Given the description of an element on the screen output the (x, y) to click on. 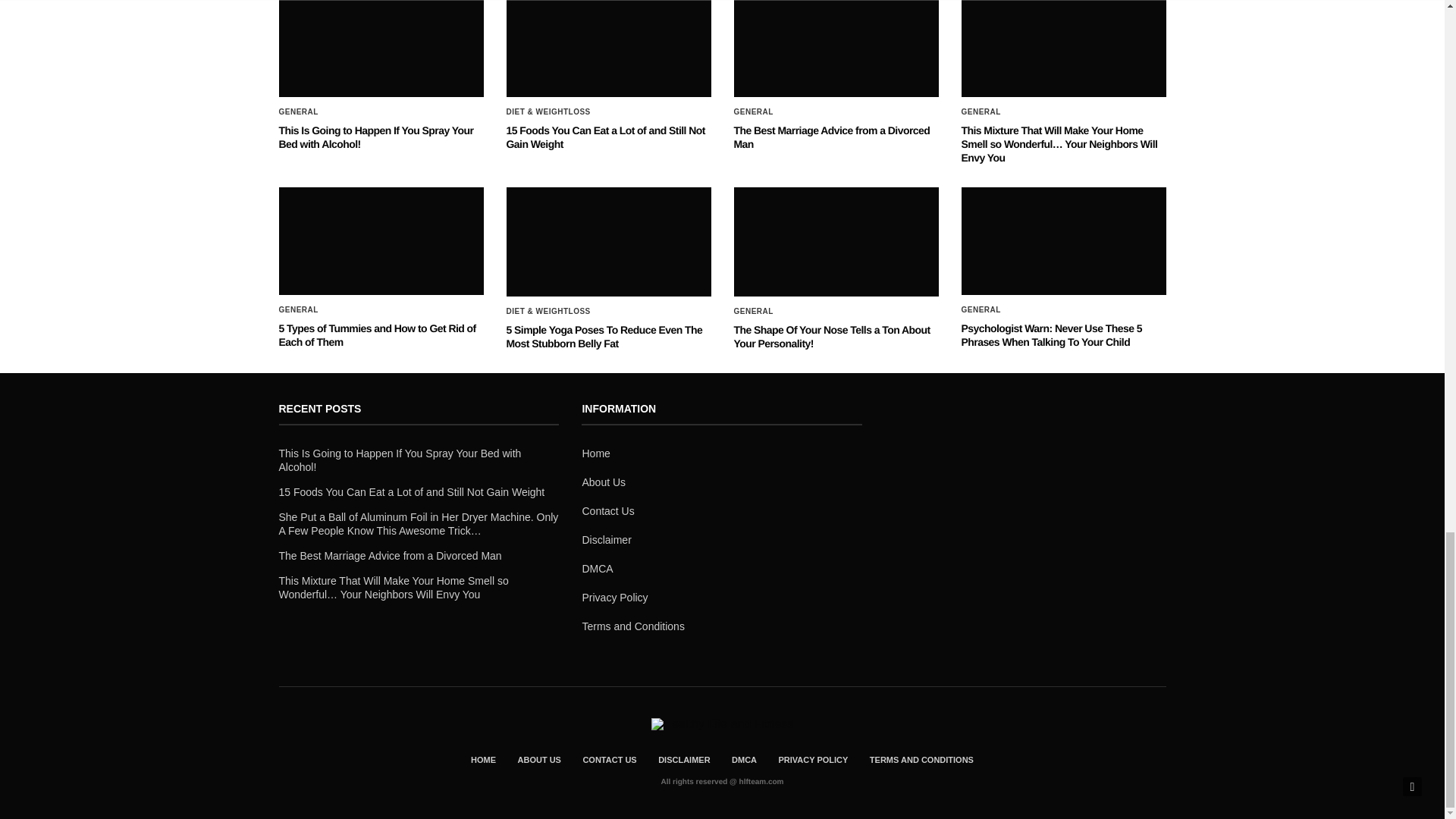
General (753, 112)
GENERAL (980, 112)
15 Foods You Can Eat a Lot of and Still Not Gain Weight (608, 48)
The Best Marriage Advice from a Divorced Man (831, 136)
This Is Going to Happen If You Spray Your Bed with Alcohol! (381, 48)
GENERAL (298, 112)
The Best Marriage Advice from a Divorced Man (836, 48)
This Is Going to Happen If You Spray Your Bed with Alcohol! (376, 136)
General (980, 112)
15 Foods You Can Eat a Lot of and Still Not Gain Weight (605, 136)
